Given the description of an element on the screen output the (x, y) to click on. 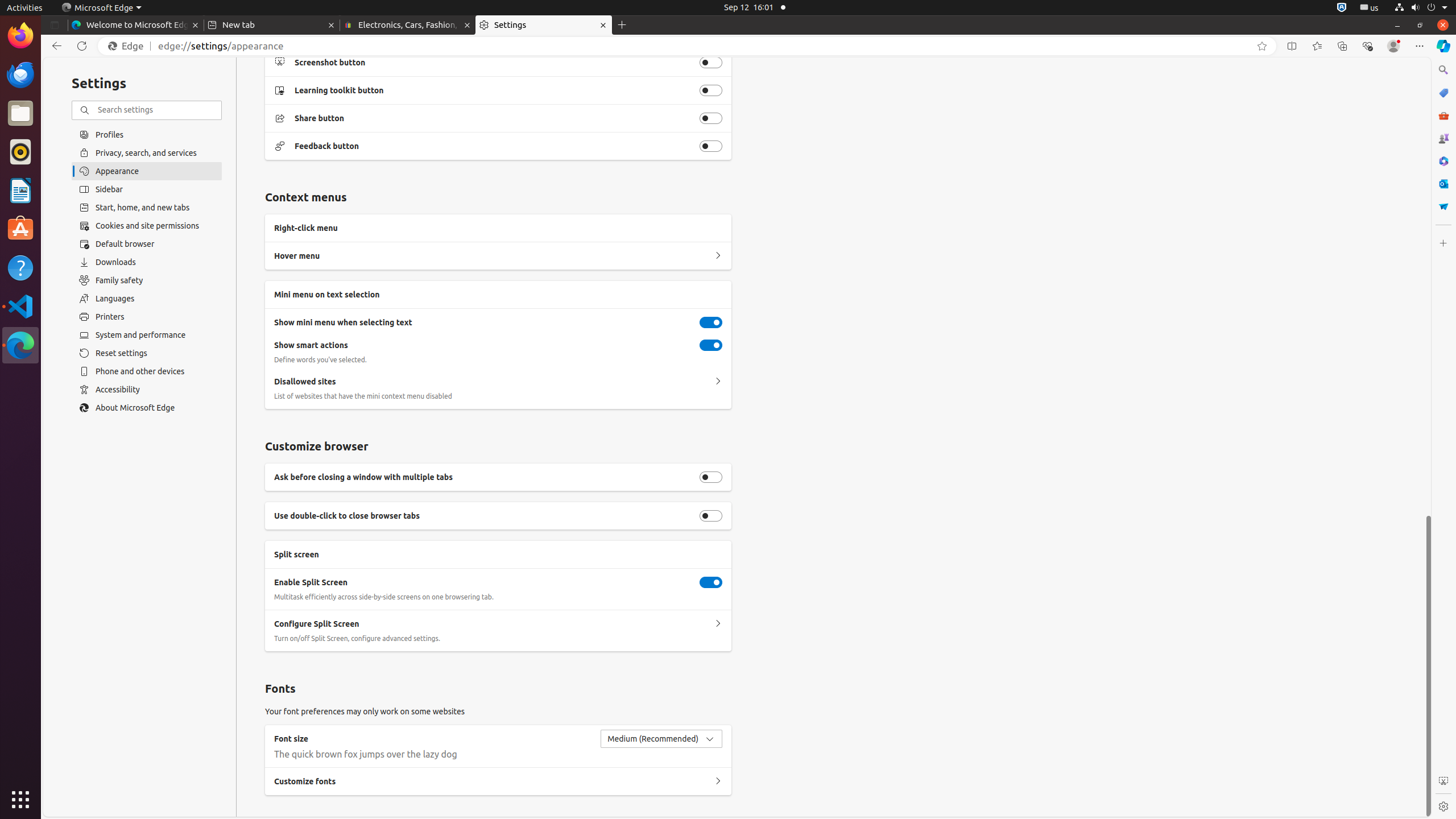
Settings and more (Alt+F) Element type: push-button (1419, 45)
